Given the description of an element on the screen output the (x, y) to click on. 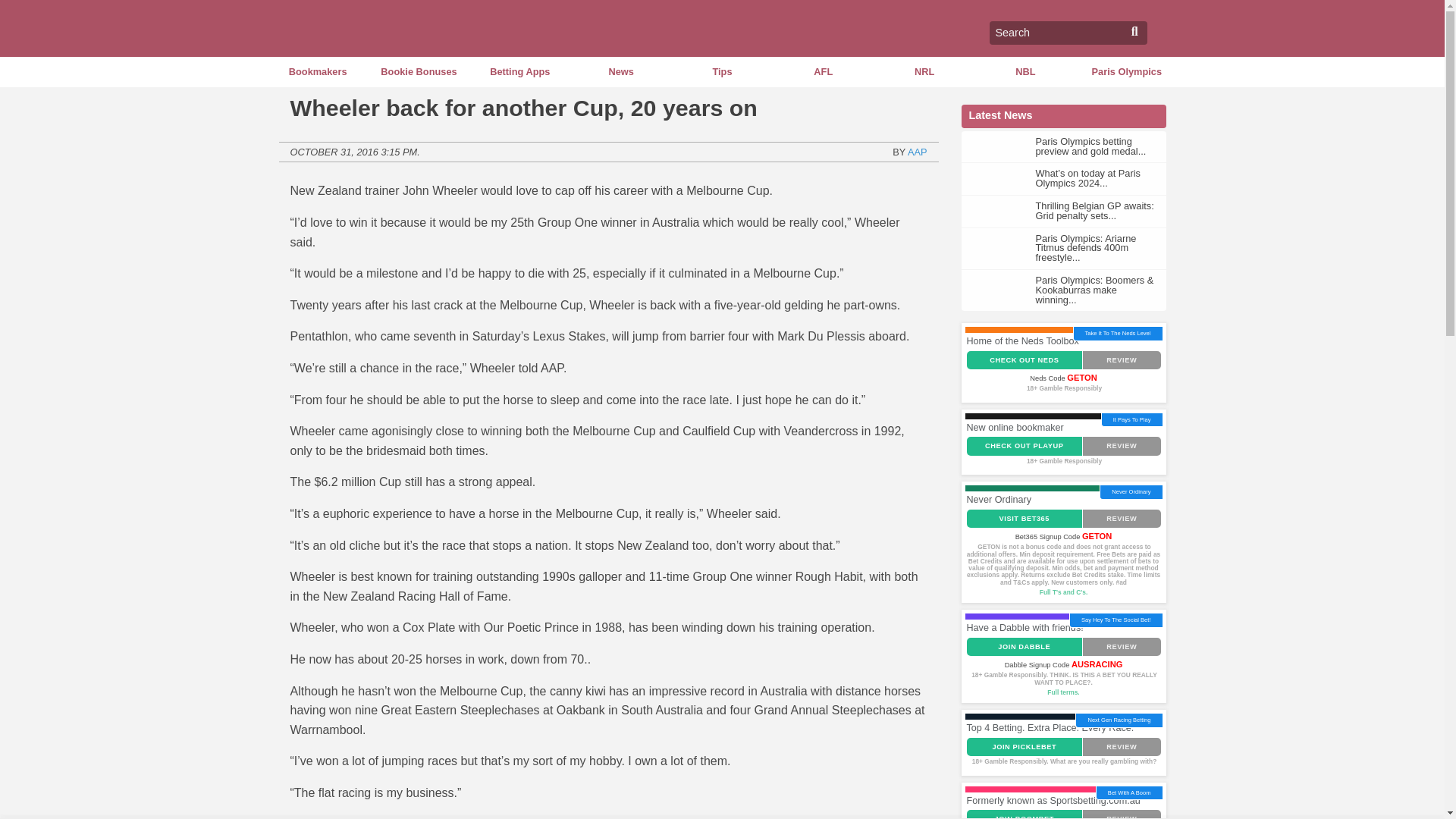
Tips (722, 71)
News (620, 71)
AFL (823, 71)
Bookie Bonuses (418, 71)
AAP (917, 152)
AFL (823, 71)
NBL (1025, 71)
Paris Olympics (1125, 71)
Betting Apps (519, 71)
NRL (923, 71)
Bookmakers (317, 71)
NBL (1025, 71)
Betting Apps (519, 71)
News (620, 71)
Paris Olympics (1125, 71)
